Given the description of an element on the screen output the (x, y) to click on. 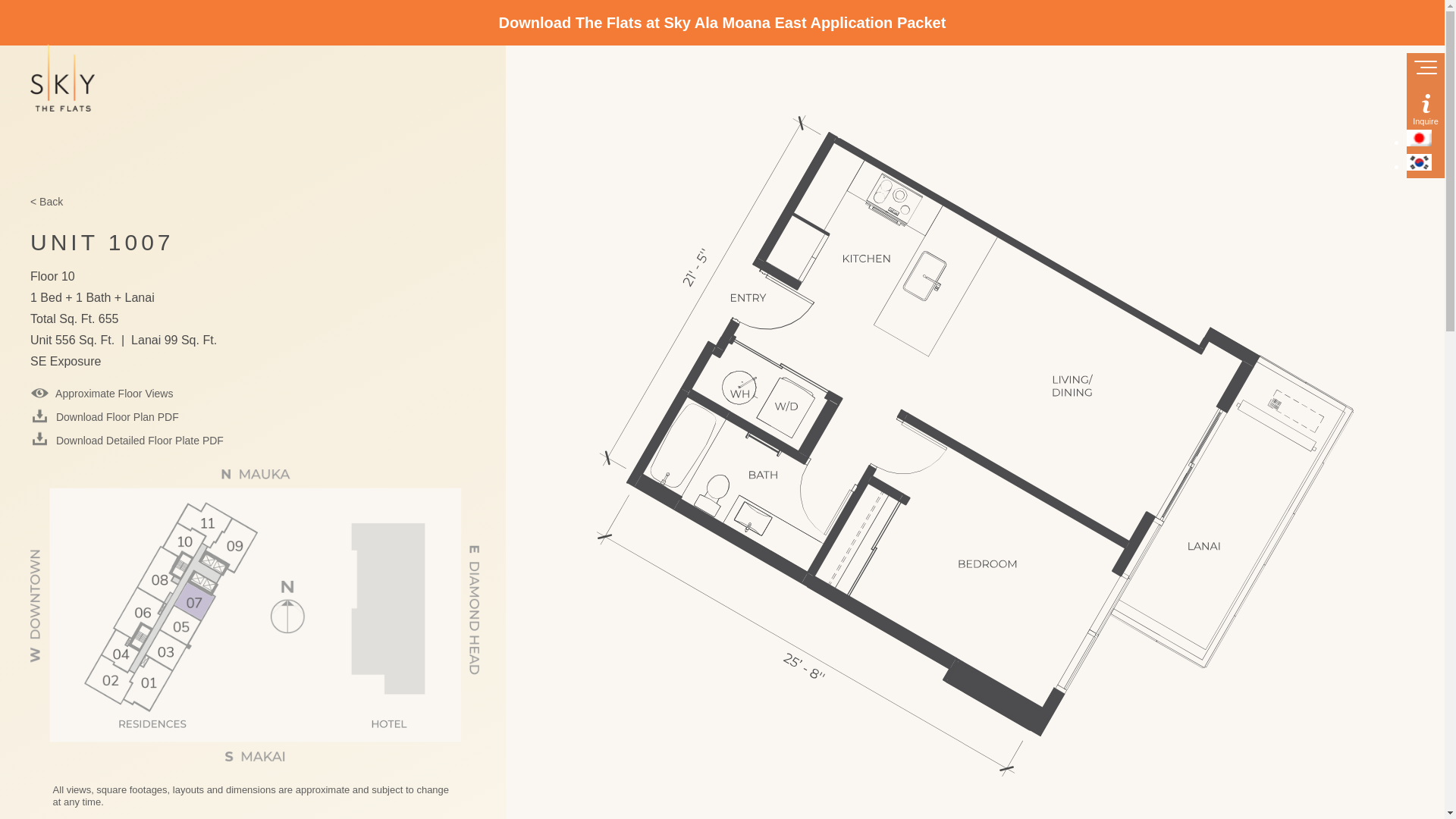
Download Floor Plan PDF (104, 417)
Download Detailed Floor Plate PDF (127, 440)
Download The Flats at Sky Ala Moana East Application Packet (722, 22)
Approximate Floor Views (101, 394)
